Given the description of an element on the screen output the (x, y) to click on. 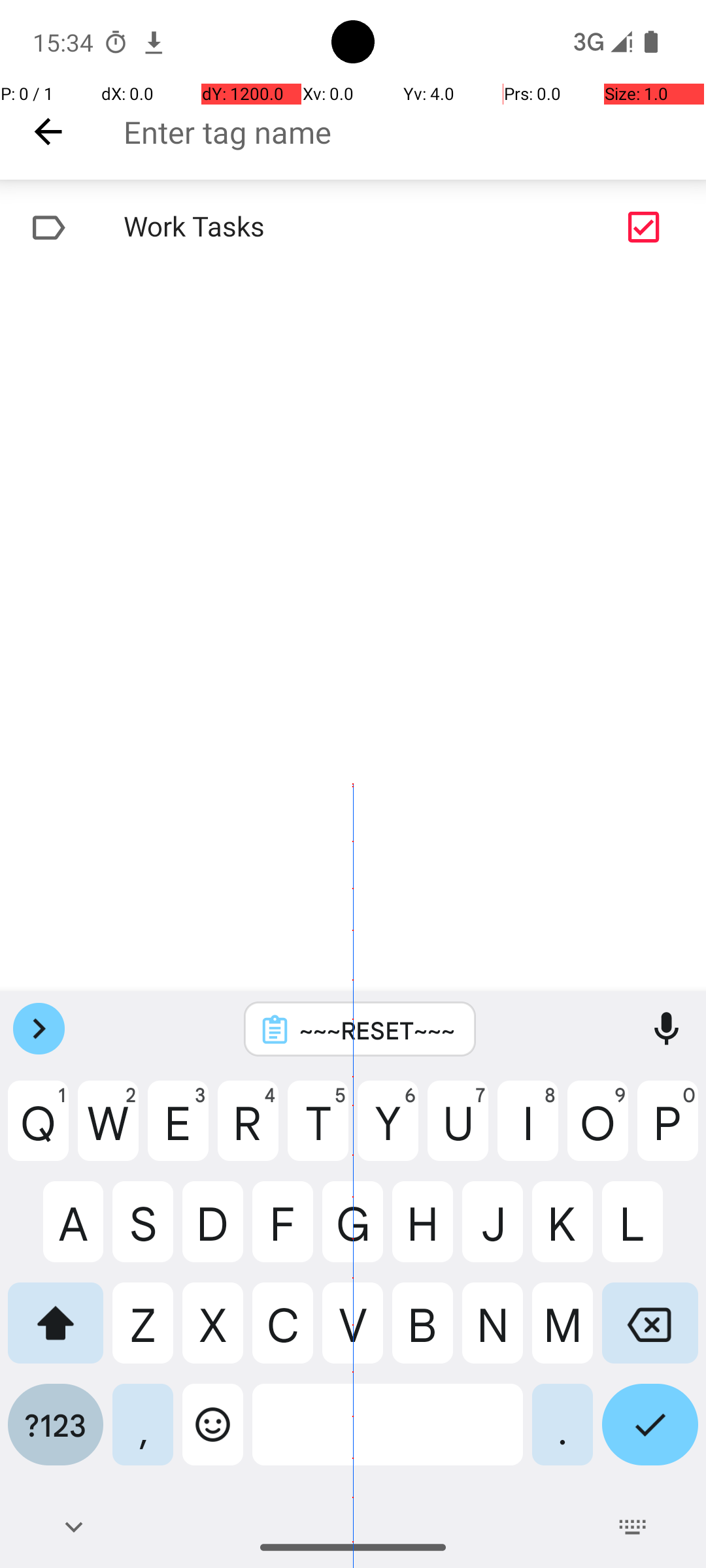
Enter tag name Element type: android.widget.EditText (414, 131)
Work Tasks Element type: android.widget.TextView (311, 227)
